Given the description of an element on the screen output the (x, y) to click on. 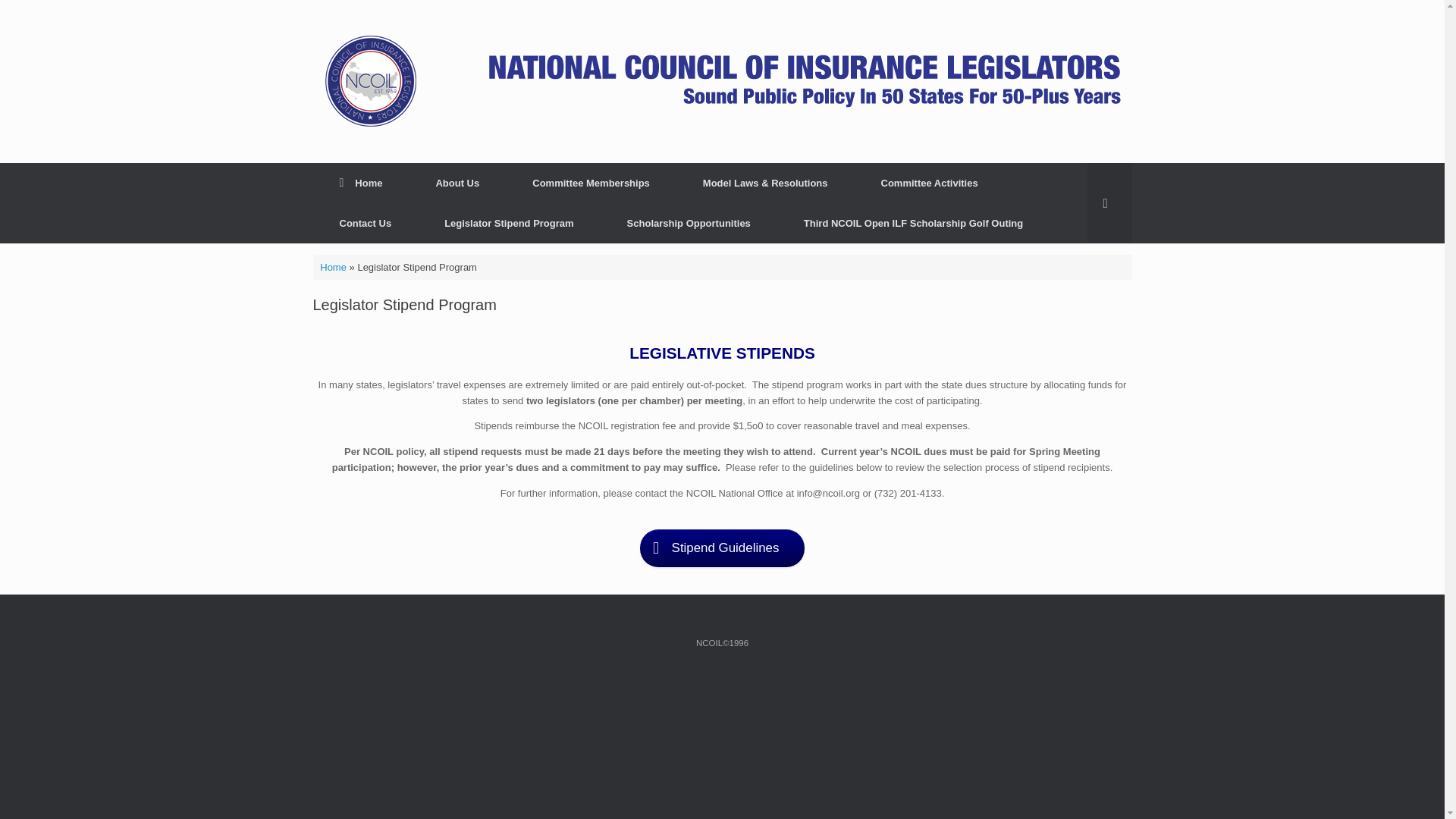
Committee Memberships (591, 182)
About Us (457, 182)
Committee Activities (929, 182)
NCOIL (722, 81)
Contact Us (365, 223)
Home (361, 182)
